Given the description of an element on the screen output the (x, y) to click on. 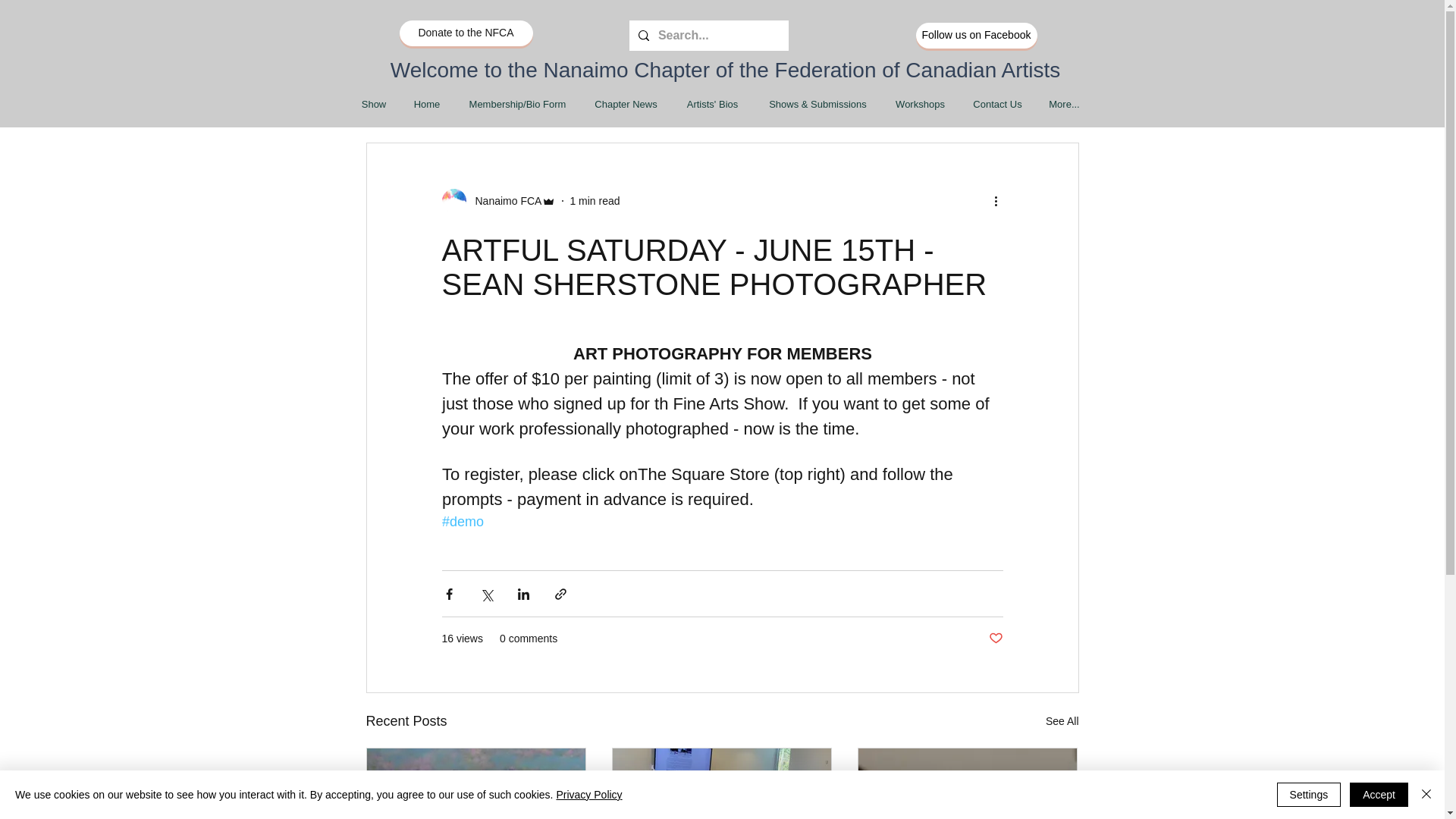
Artists' Bios (711, 104)
Nanaimo FCA (498, 200)
Home (427, 104)
Post not marked as liked (995, 638)
Chapter News (624, 104)
Follow us on Facebook (975, 35)
Show (372, 104)
See All (1061, 721)
Nanaimo FCA  (503, 200)
Contact Us (996, 104)
1 min read (594, 200)
Donate to the NFCA (465, 32)
Workshops (919, 104)
